Given the description of an element on the screen output the (x, y) to click on. 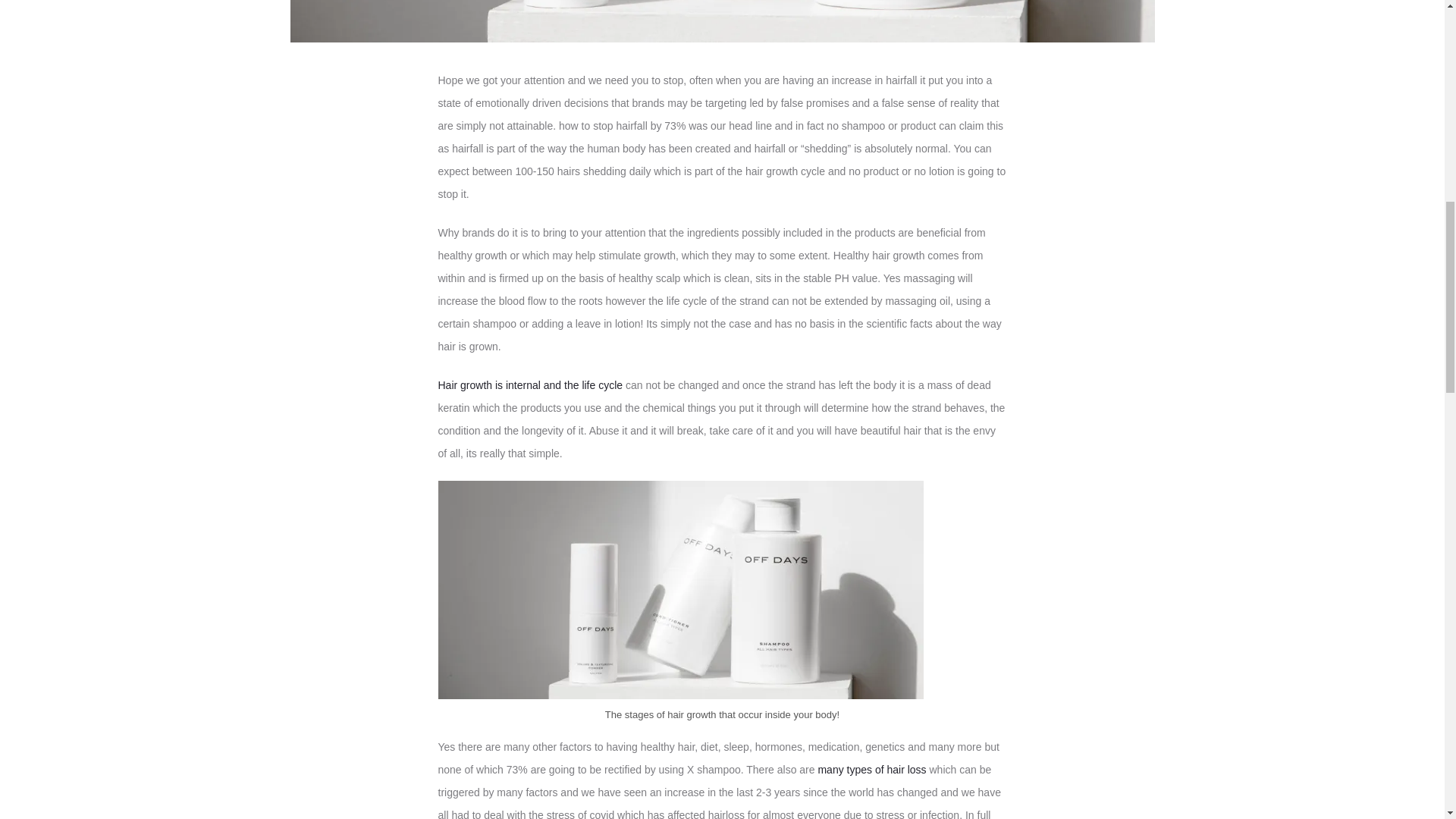
Hair growth is internal and the life cycle (532, 385)
many types of hair loss (871, 769)
